Given the description of an element on the screen output the (x, y) to click on. 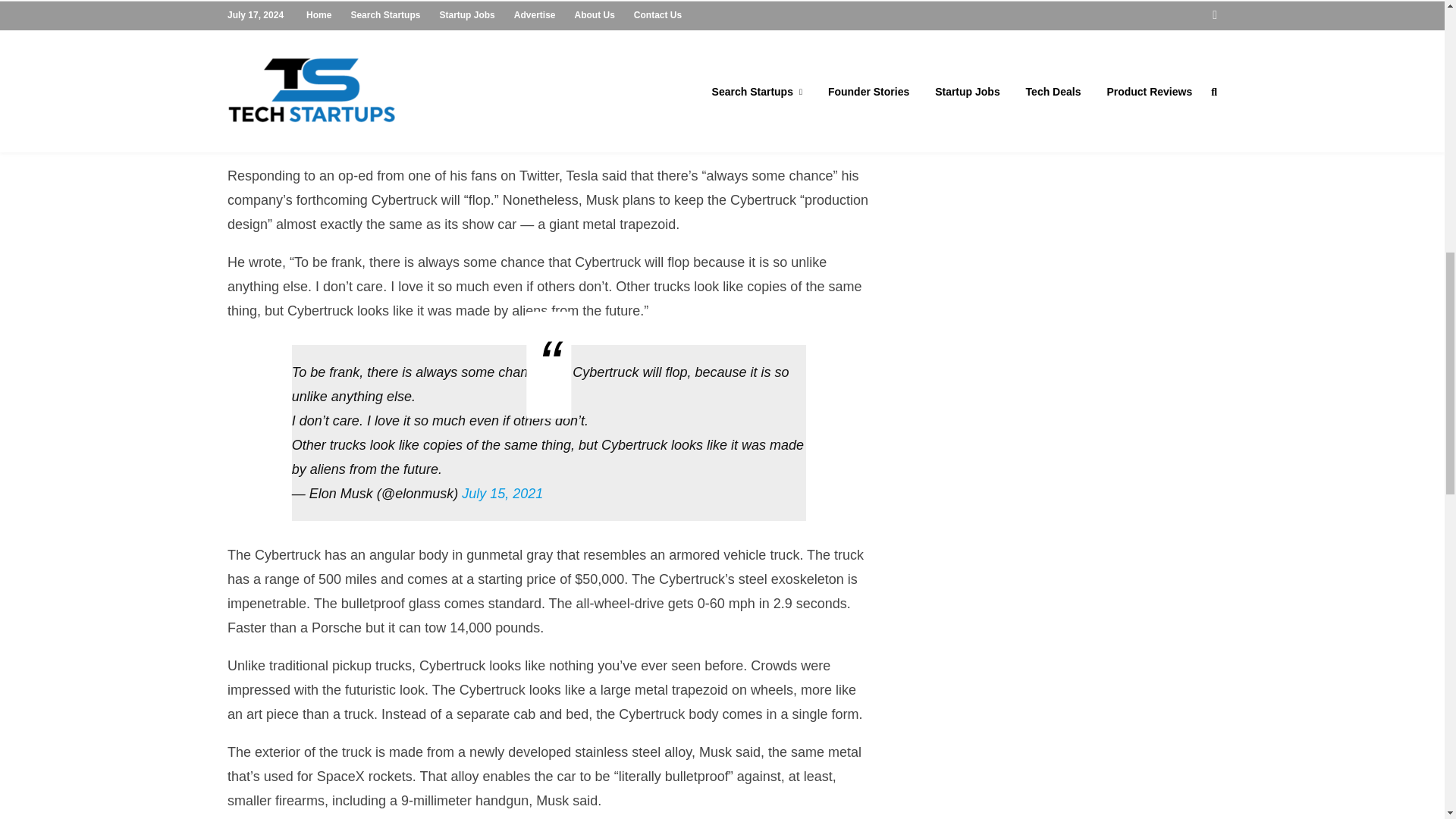
Advertisement (1064, 102)
July 15, 2021 (502, 493)
